Given the description of an element on the screen output the (x, y) to click on. 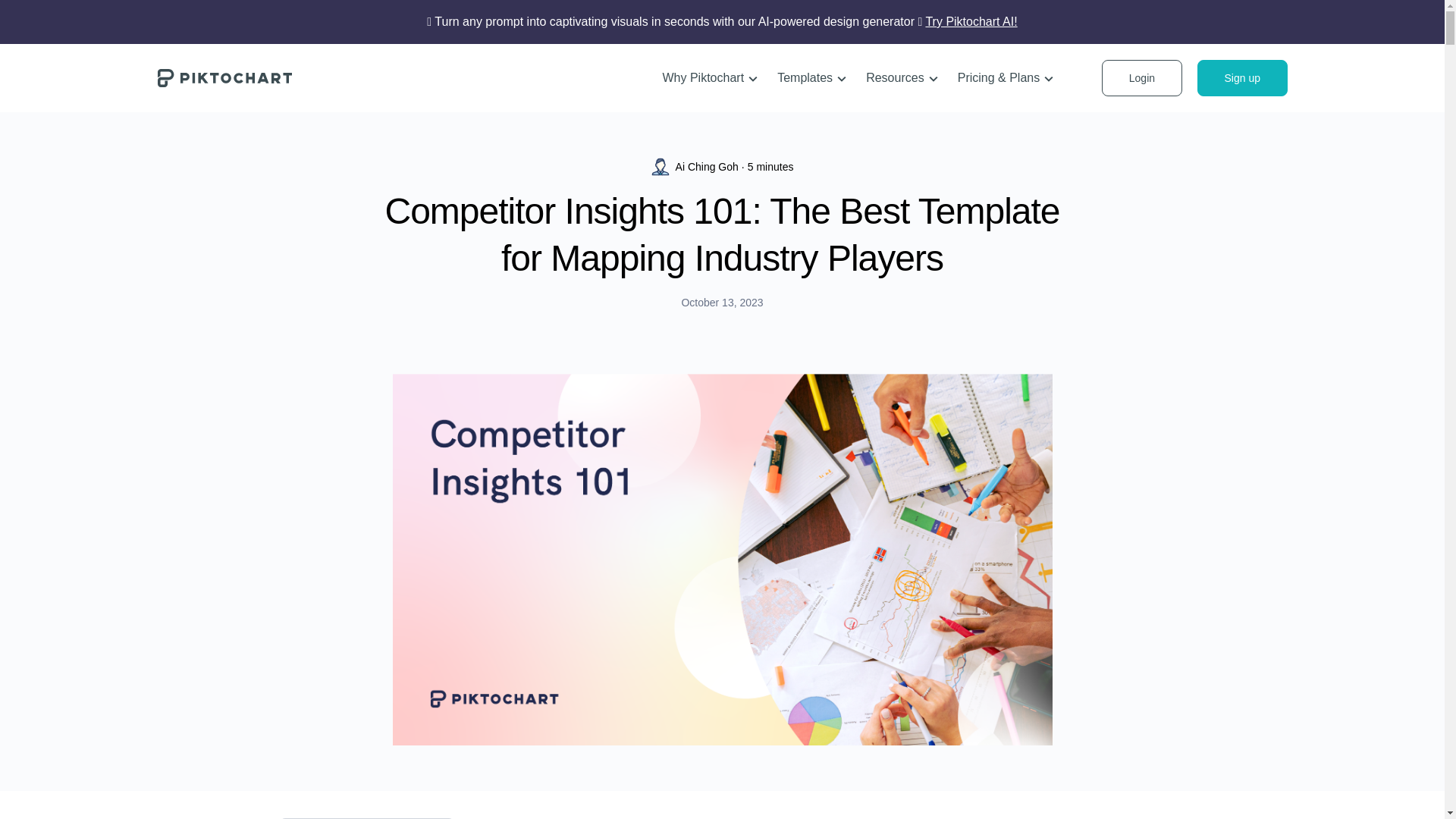
Why Piktochart (710, 78)
Why Piktochart (710, 78)
Try Piktochart AI! (970, 21)
Piktochart (224, 77)
